Given the description of an element on the screen output the (x, y) to click on. 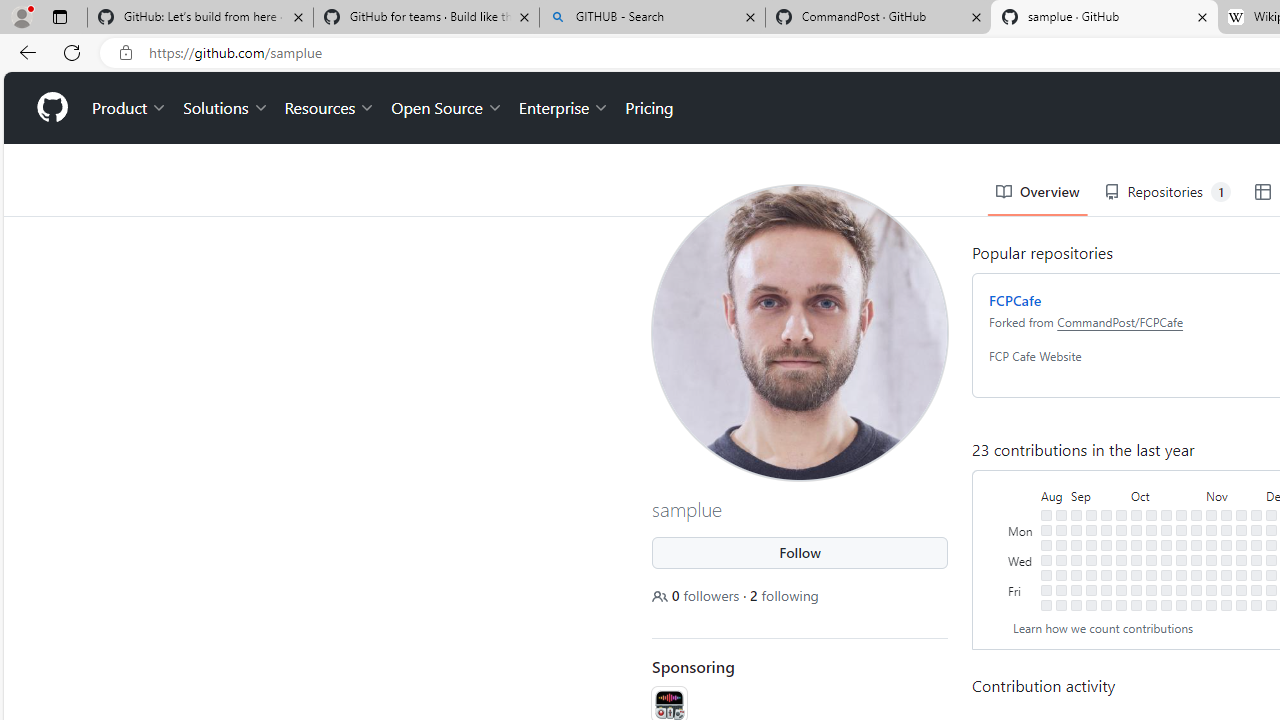
No contributions on October 30th. (1195, 529)
No contributions on August 29th. (1061, 544)
No contributions on August 30th. (1061, 559)
Wednesday (1022, 559)
Day of Week (1022, 493)
No contributions on November 15th. (1226, 559)
No contributions on December 7th. (1271, 574)
No contributions on September 25th. (1121, 529)
@samplue (667, 95)
No contributions on November 4th. (1195, 605)
No contributions on October 24th. (1181, 544)
No contributions on August 22nd. (1046, 544)
Enterprise (563, 107)
